Given the description of an element on the screen output the (x, y) to click on. 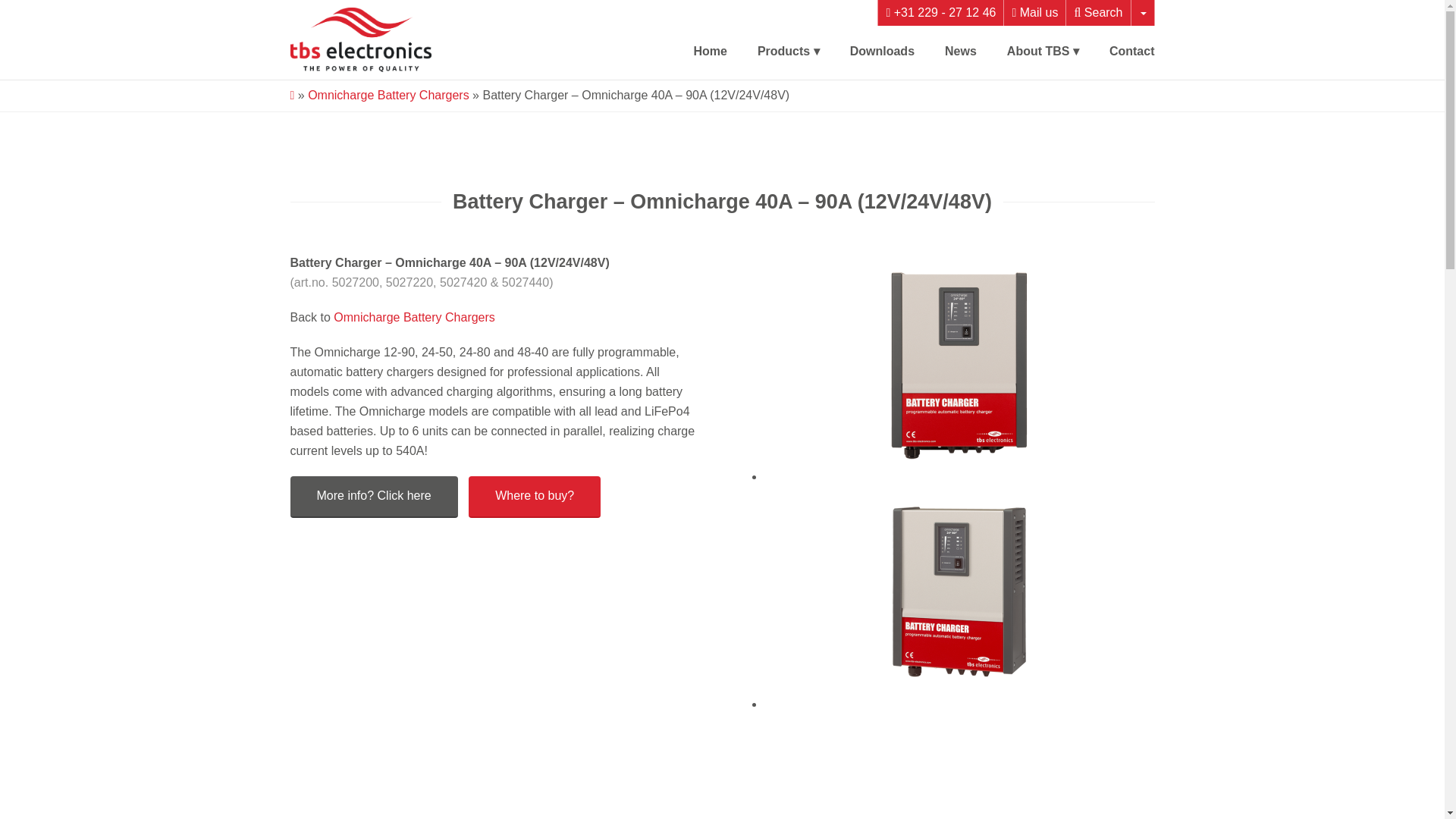
telefoon (940, 11)
News (960, 51)
TBS Electronics EN (361, 39)
mail (1034, 11)
Contact (1131, 51)
Omnicharge Battery Chargers (414, 317)
Downloads (882, 51)
About TBS (1042, 51)
Home (709, 51)
More info? Click here (373, 496)
Mail us (1034, 11)
Omnicharge Battery Chargers (387, 94)
Search (1098, 11)
Products (788, 51)
Where to buy? (533, 496)
